Given the description of an element on the screen output the (x, y) to click on. 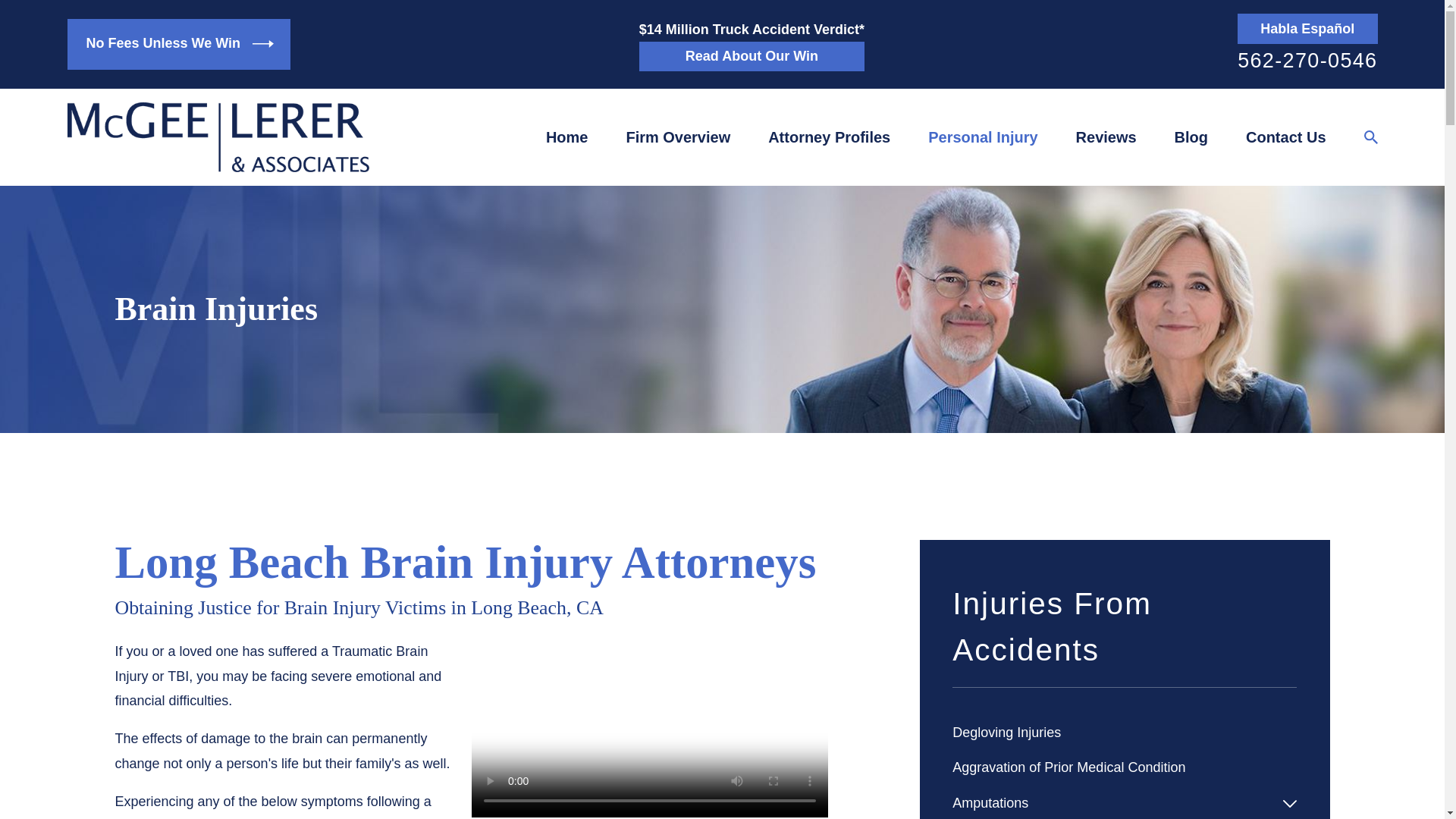
Firm Overview (678, 137)
No Fees Unless We Win (177, 44)
Open child menu of Amputations (1289, 803)
Read About Our Win (751, 56)
Attorney Profiles (828, 137)
Home (217, 136)
Personal Injury (982, 137)
562-270-0546 (1307, 60)
